Given the description of an element on the screen output the (x, y) to click on. 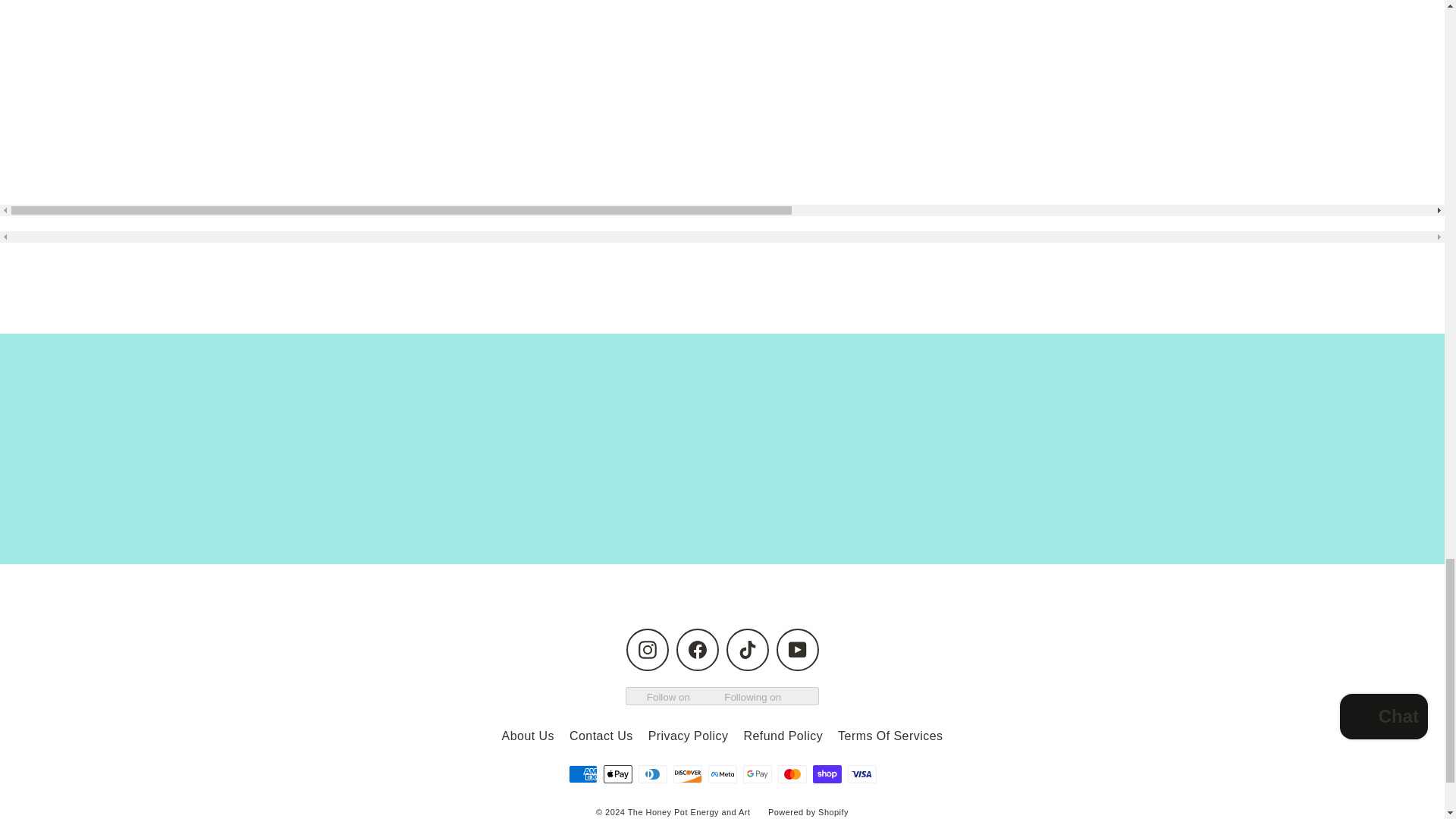
 The Honey Pot Energy and Art  on TikTok (747, 649)
 The Honey Pot Energy and Art  on YouTube (797, 649)
Discover (686, 773)
American Express (582, 773)
Diners Club (652, 773)
instagram (647, 649)
Visa (861, 773)
 The Honey Pot Energy and Art  on Facebook (698, 649)
Google Pay (756, 773)
 The Honey Pot Energy and Art  on Instagram (647, 649)
